Given the description of an element on the screen output the (x, y) to click on. 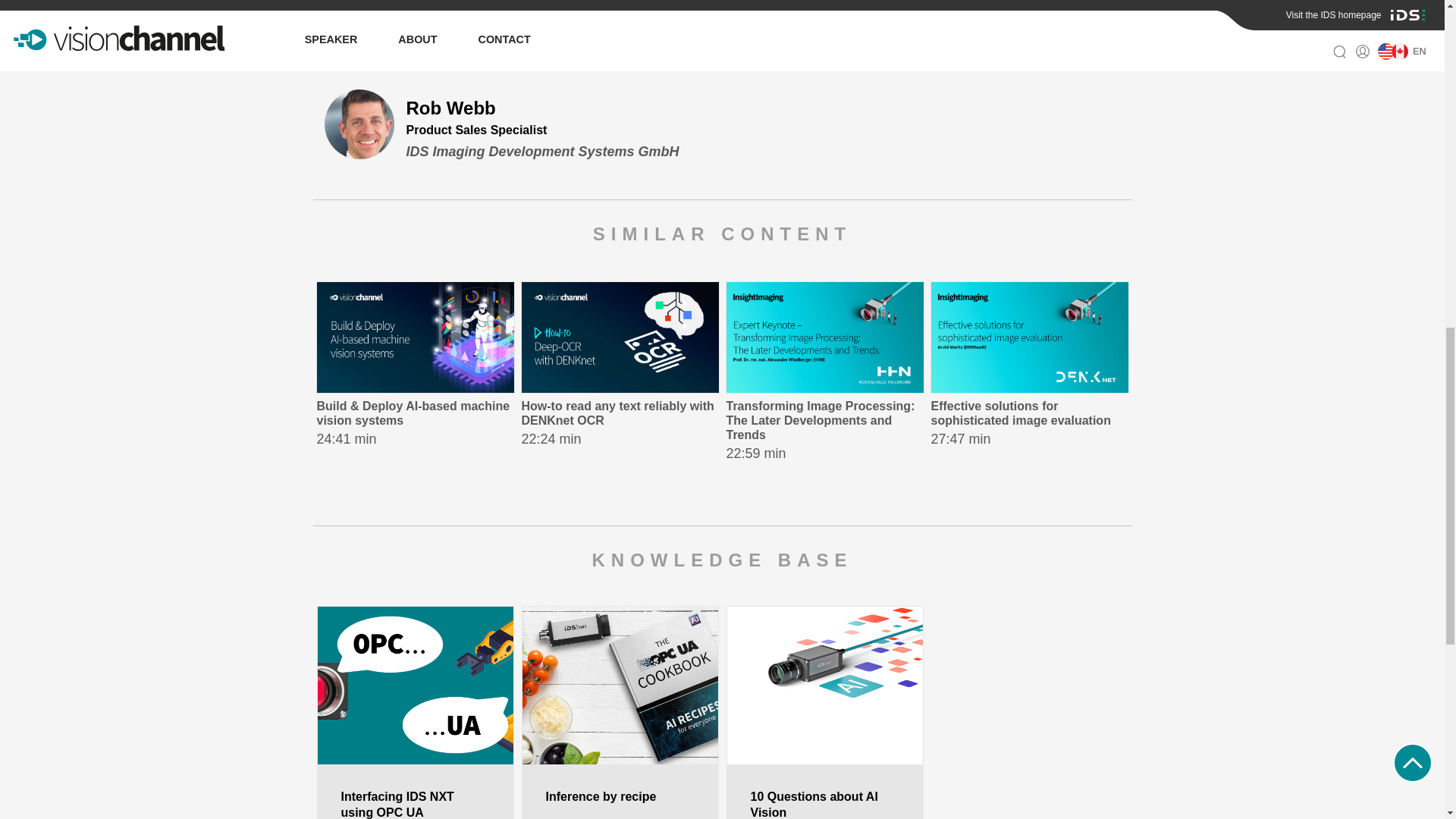
Discover products (620, 376)
Would you like to know more? (403, 9)
Further informationen (609, 9)
Would you like to know more? (609, 9)
Rob Webb (403, 9)
